Given the description of an element on the screen output the (x, y) to click on. 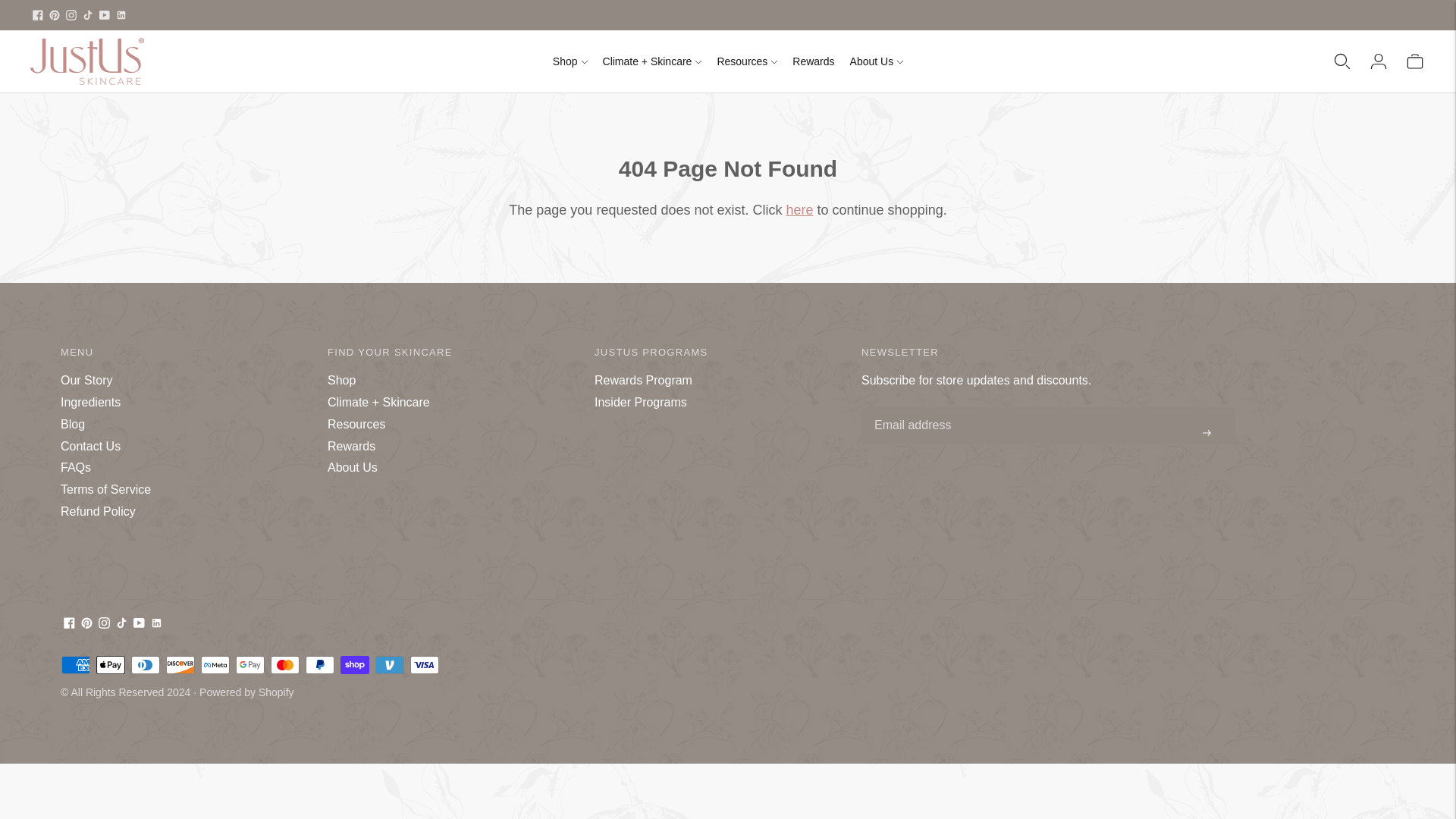
JustUs Skincare on LinkedIn, (121, 14)
JustUs Skincare on TikTok (87, 14)
JustUs Skincare on Pinterest (54, 14)
JustUs Skincare on Instagram (71, 14)
JustUs Skincare on YouTube (104, 14)
JustUs Skincare on Facebook (37, 14)
